Given the description of an element on the screen output the (x, y) to click on. 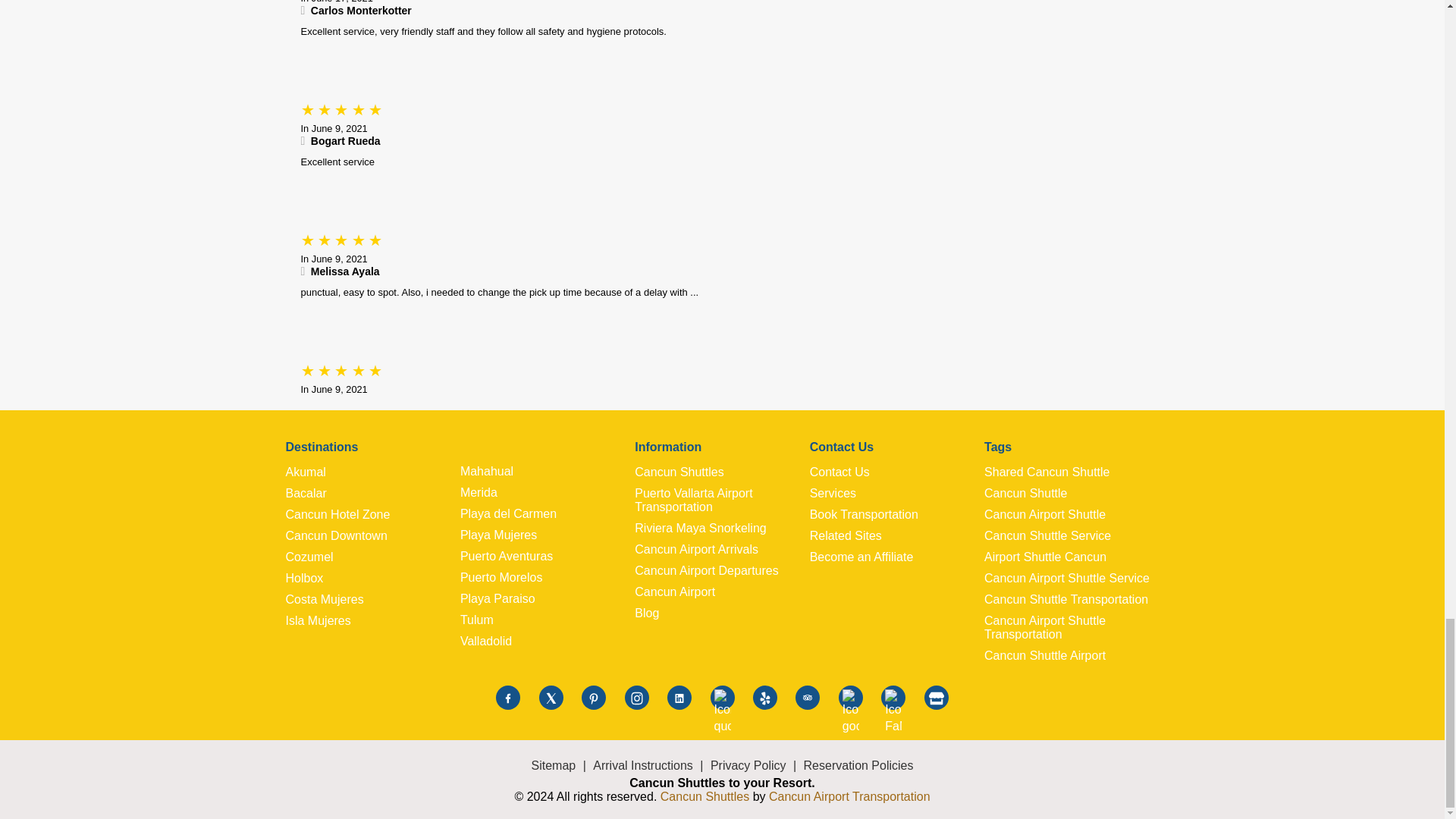
Cancun Hotel Zone (372, 514)
Bacalar (372, 493)
Akumal (372, 472)
